Given the description of an element on the screen output the (x, y) to click on. 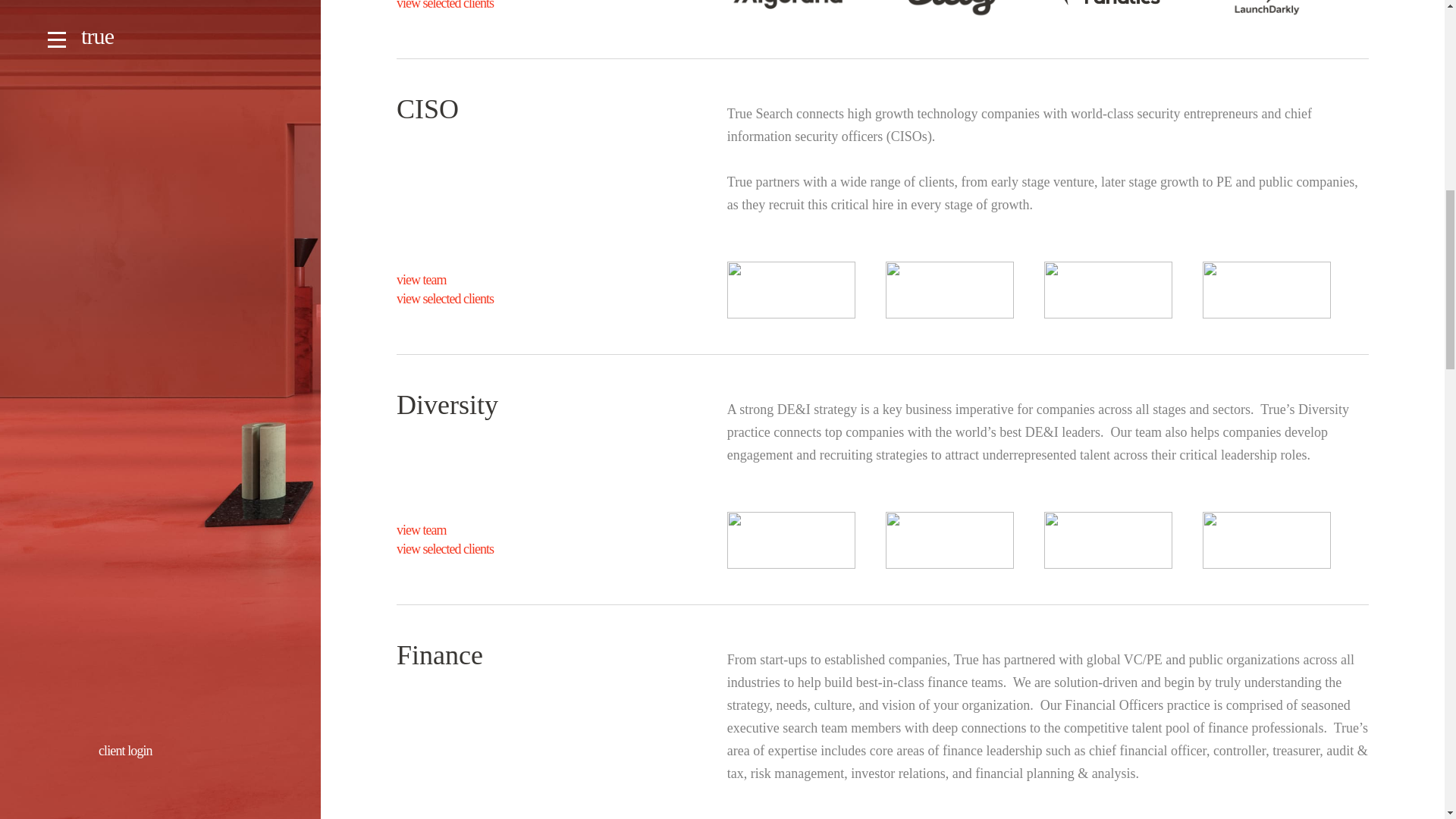
view team (517, 279)
view selected clients (517, 5)
view selected clients (517, 299)
